Given the description of an element on the screen output the (x, y) to click on. 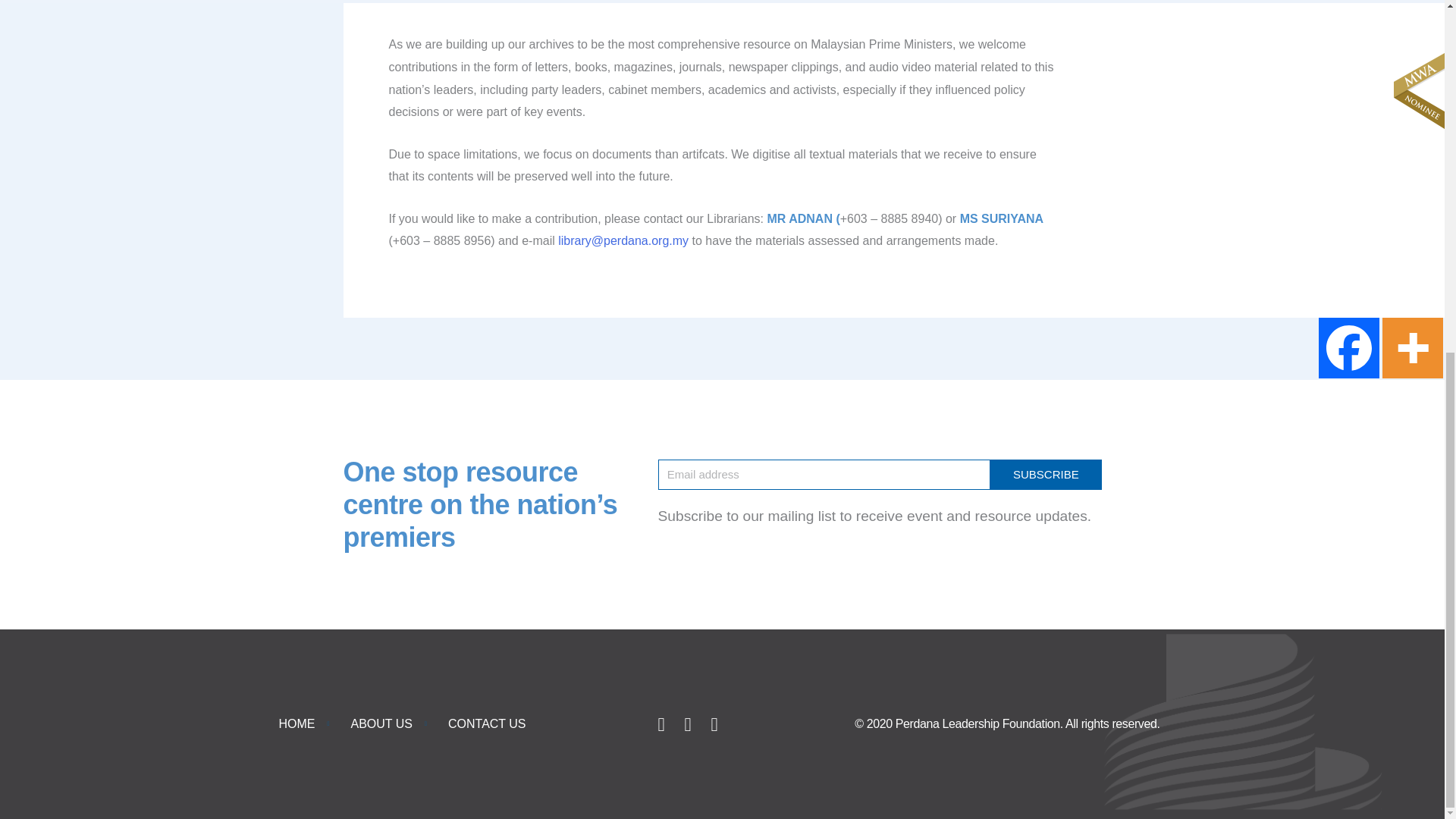
More (1411, 347)
Facebook (1348, 347)
